Given the description of an element on the screen output the (x, y) to click on. 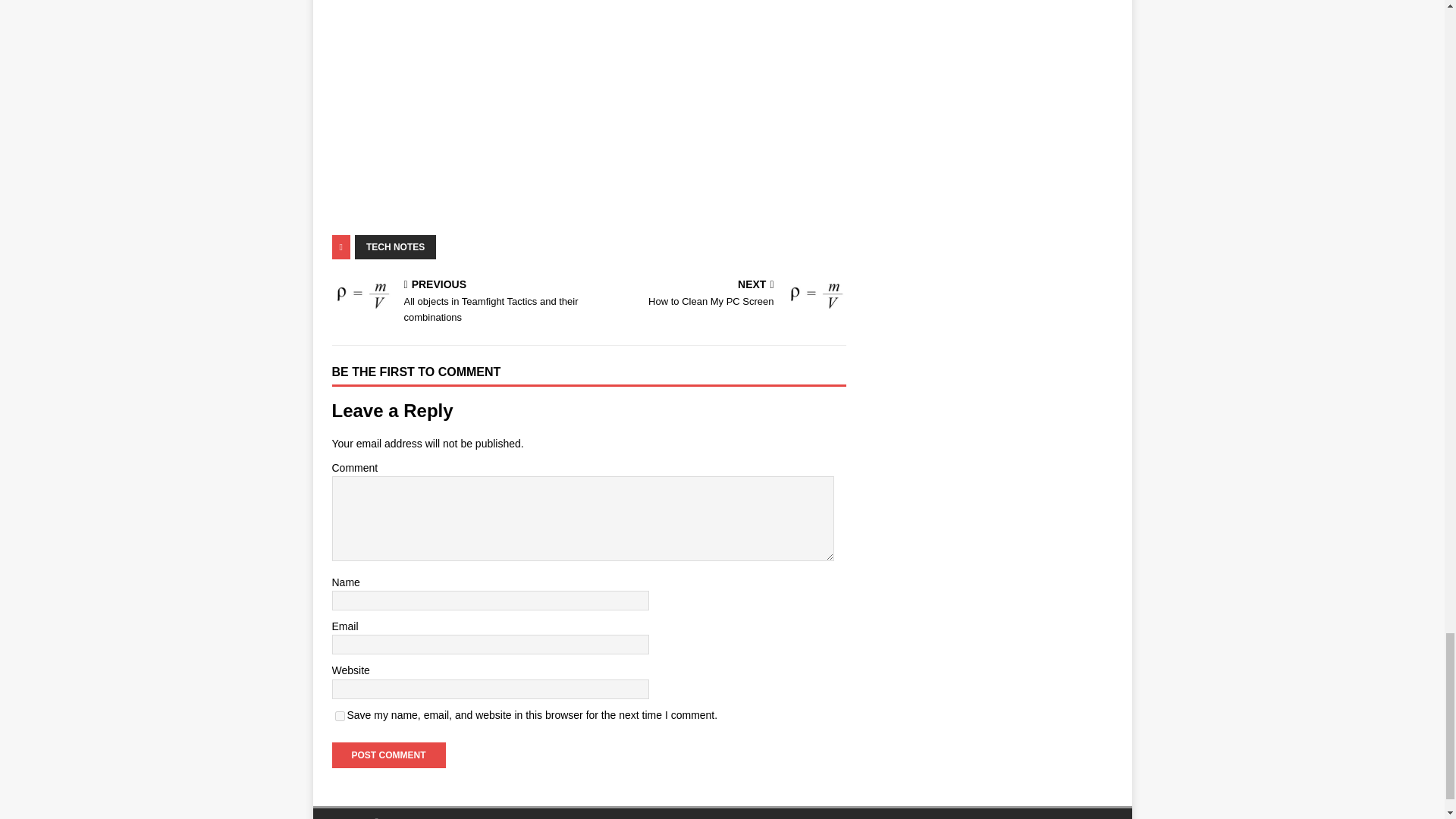
yes (339, 716)
Post Comment (388, 755)
